Given the description of an element on the screen output the (x, y) to click on. 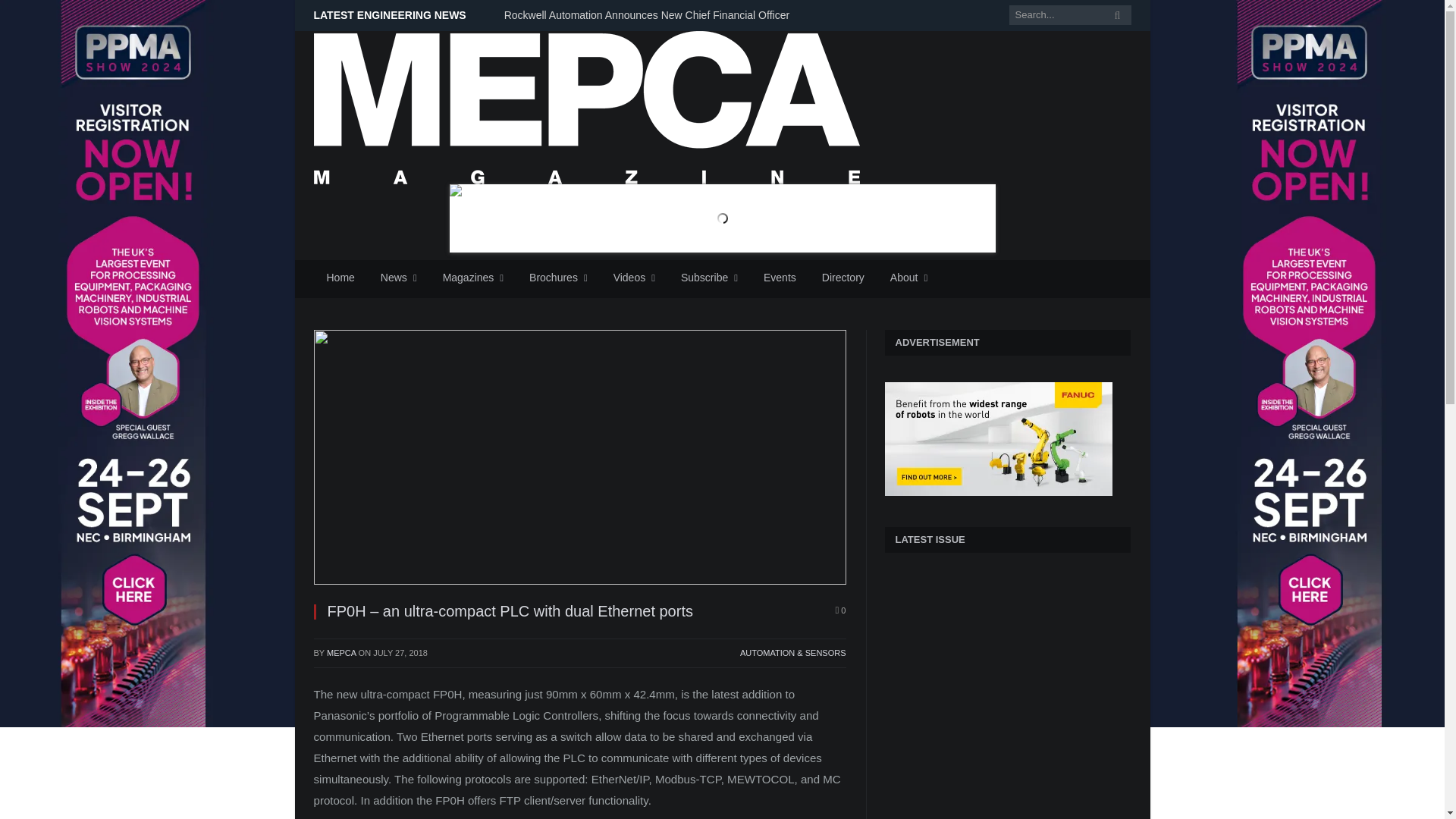
Posts by MEPCA (341, 652)
Rockwell Automation Announces New Chief Financial Officer (649, 15)
Mepca Engineering (587, 105)
2018-07-27 (400, 652)
Rockwell Automation Announces New Chief Financial Officer (649, 15)
Home (341, 279)
News (398, 279)
